Given the description of an element on the screen output the (x, y) to click on. 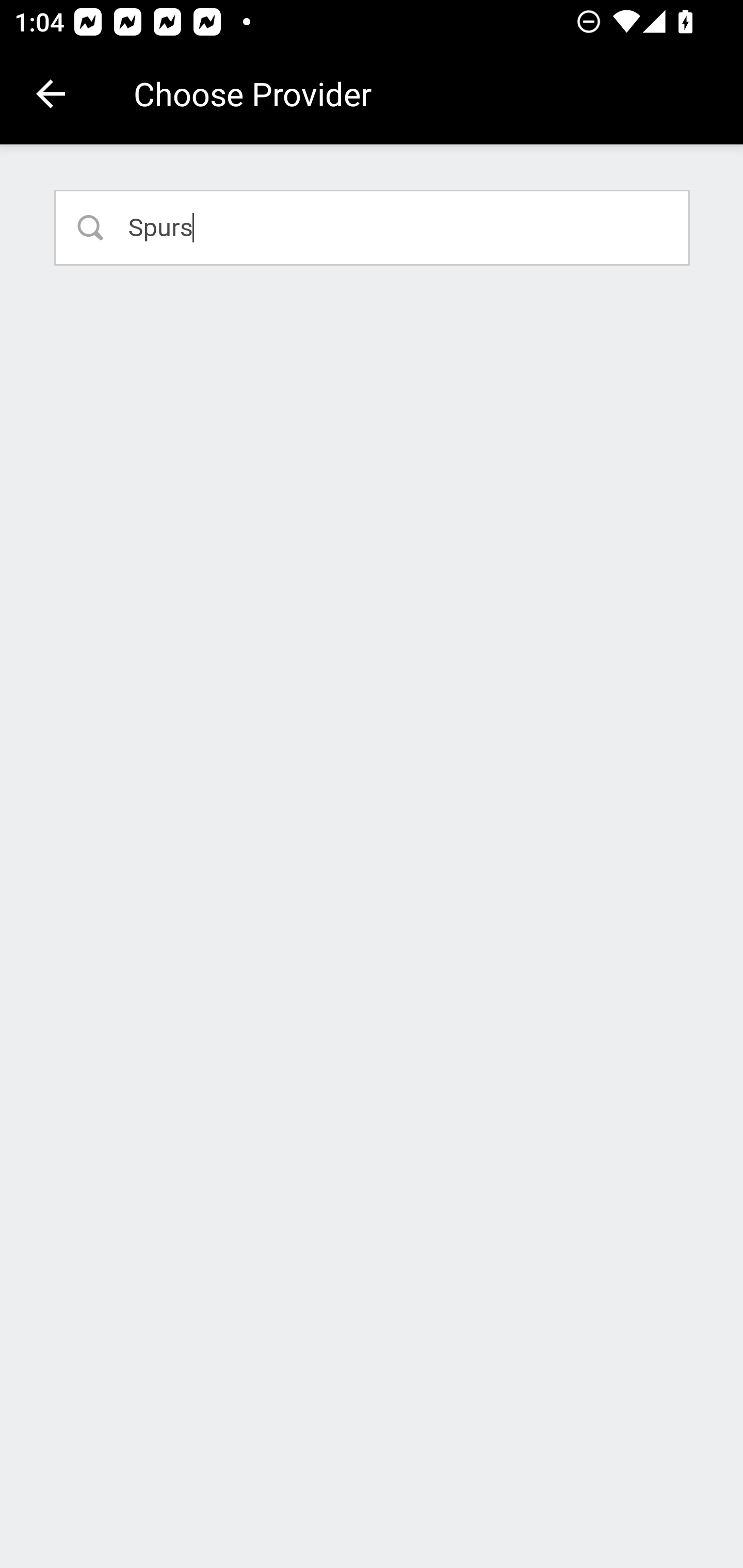
Navigate up (50, 93)
Spurs (372, 227)
